Given the description of an element on the screen output the (x, y) to click on. 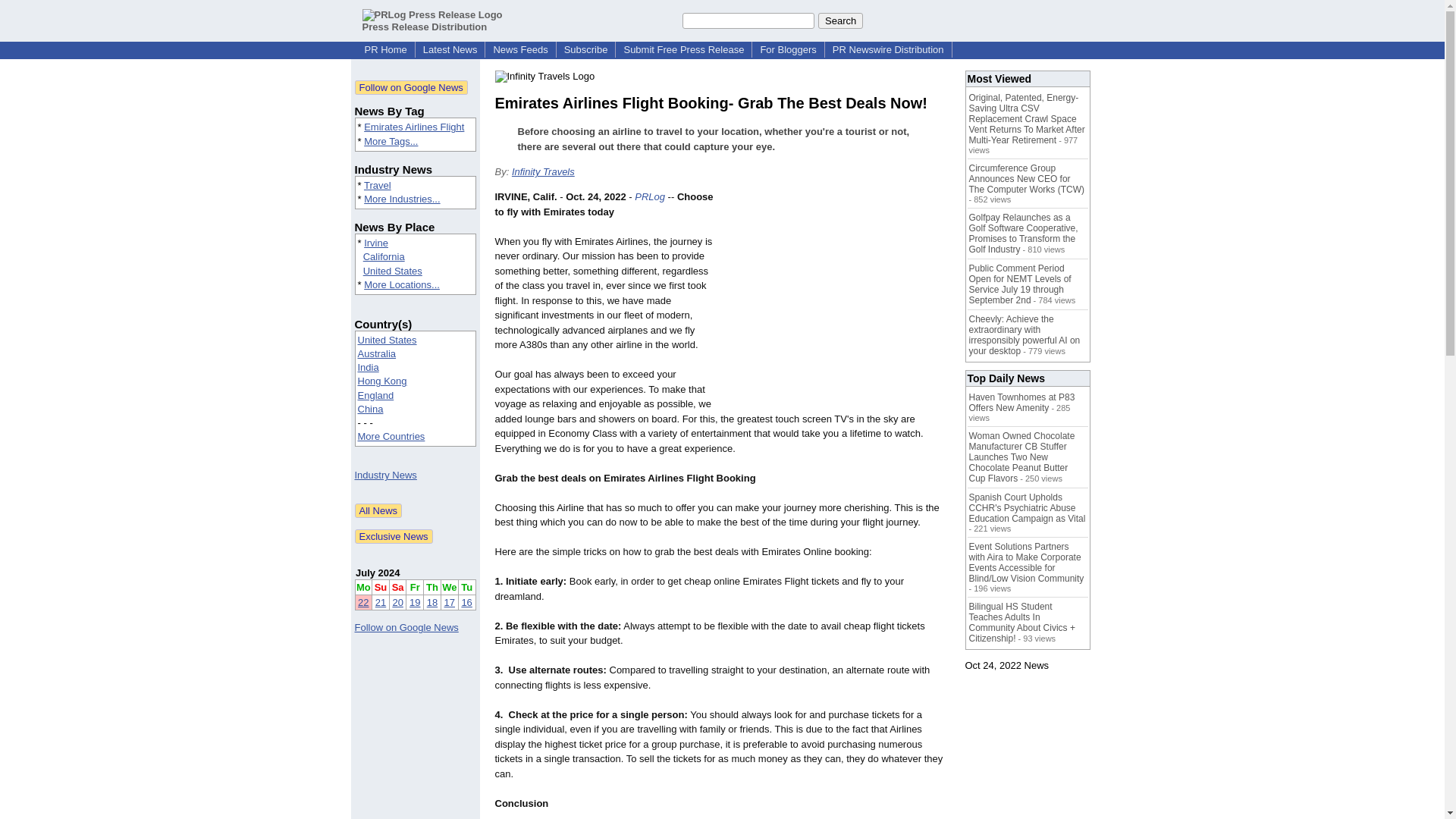
More Locations... (401, 284)
More Countries (391, 436)
20 (397, 602)
Industry News (385, 474)
17 (449, 602)
United States (392, 270)
For Bloggers (788, 49)
PR Newswire Distribution (888, 49)
China (371, 408)
Hong Kong (382, 380)
PRLog (649, 196)
July 2024 (377, 572)
Follow on Google News (406, 627)
Exclusive News (393, 536)
Click on an option to filter or browse by that option (415, 388)
